Given the description of an element on the screen output the (x, y) to click on. 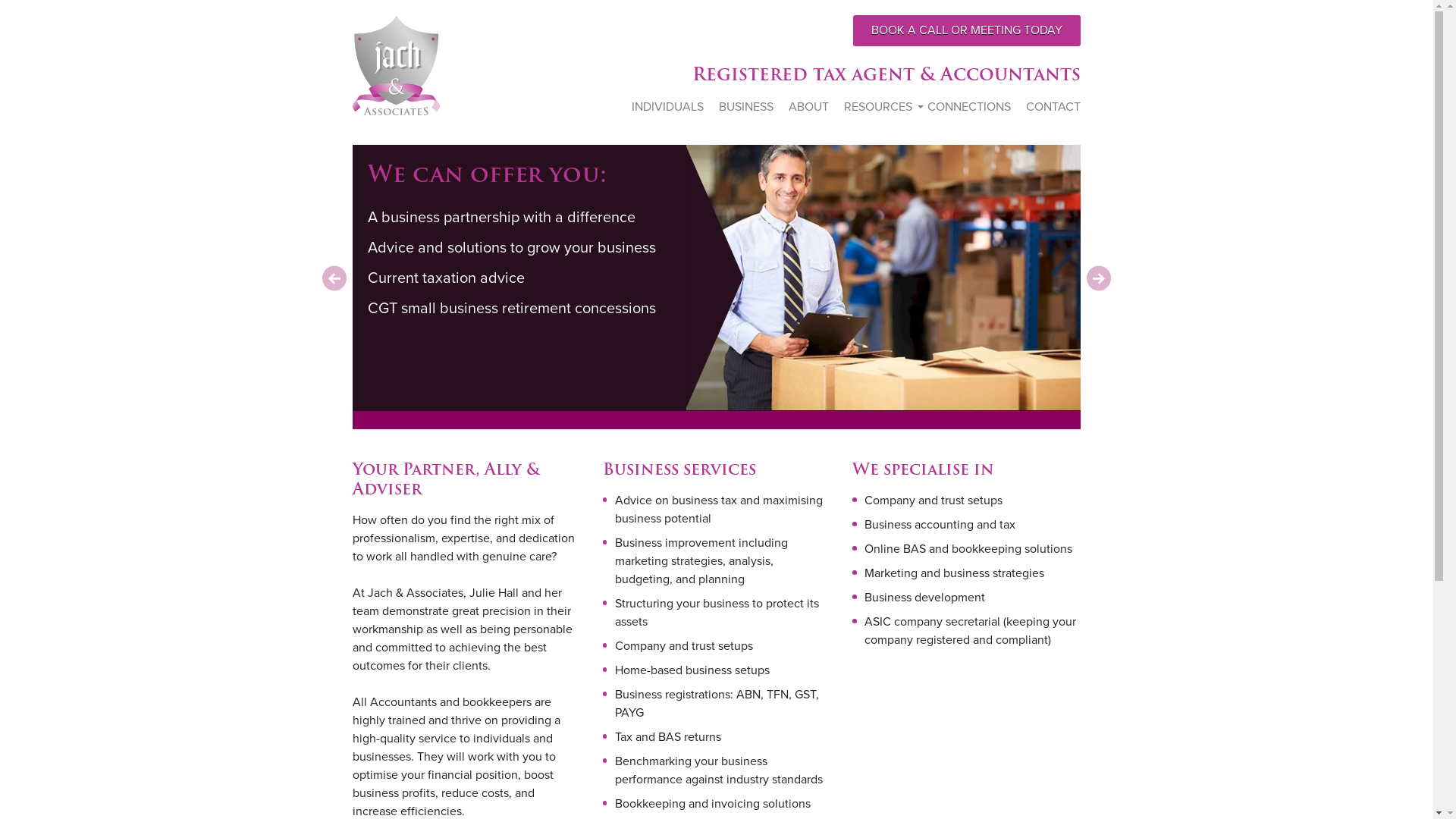
CONNECTIONS Element type: text (968, 106)
RESOURCES Element type: text (878, 106)
ABOUT Element type: text (808, 106)
CONTACT Element type: text (1053, 106)
Return to the Jach & Associates home page Element type: hover (395, 65)
BOOK A CALL OR MEETING TODAY Element type: text (966, 30)
BUSINESS Element type: text (745, 106)
INDIVIDUALS Element type: text (667, 106)
